Given the description of an element on the screen output the (x, y) to click on. 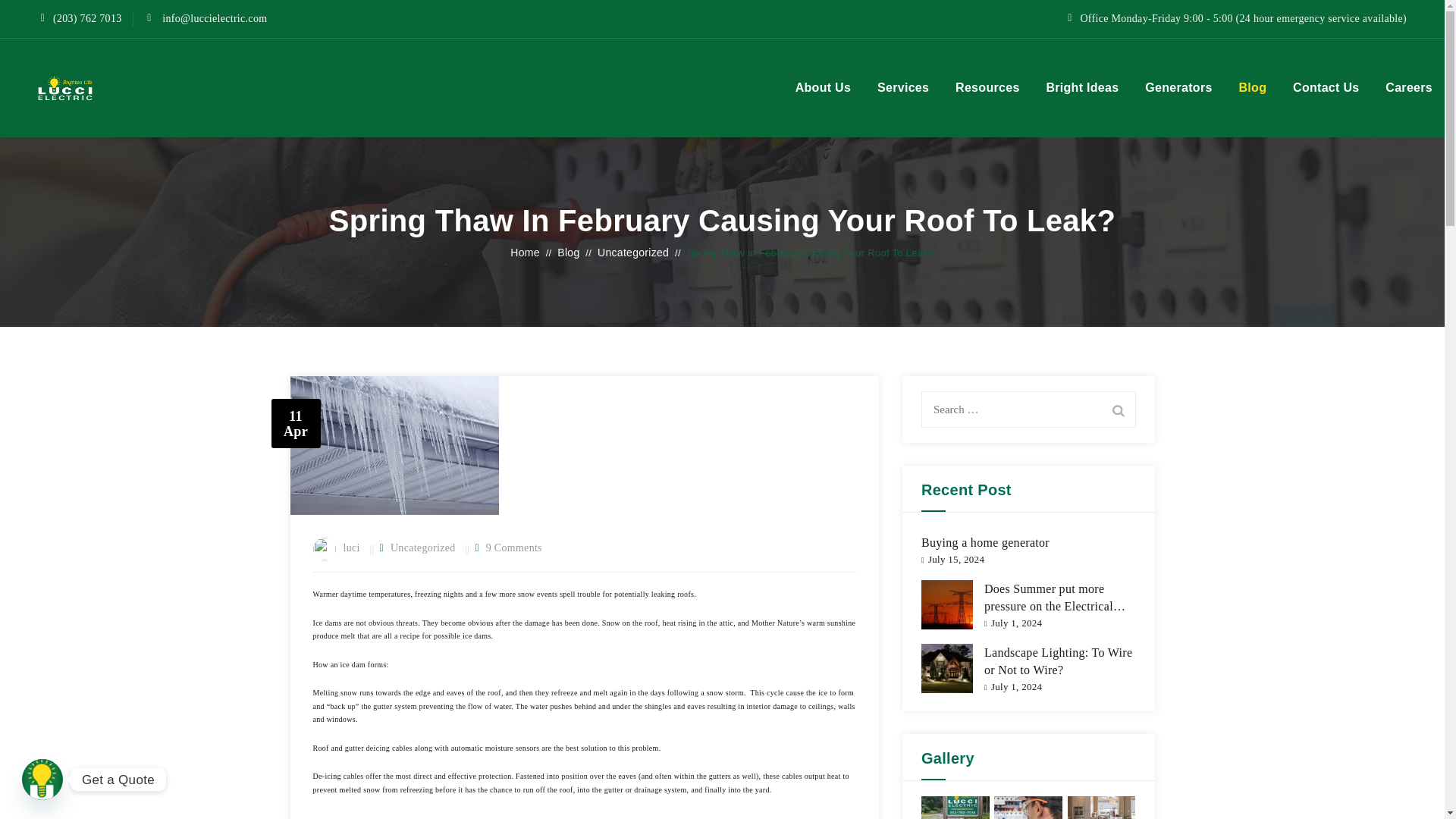
Contact Us (1326, 87)
Go to Lucci Electric. (525, 252)
Go to the Uncategorized Category archives. (632, 252)
Uncategorized (632, 252)
Search (1117, 410)
Go to Blog. (568, 252)
Resources (987, 87)
Search (1117, 410)
Blog (568, 252)
Generators (1178, 87)
Bright Ideas (1082, 87)
luci (350, 547)
Uncategorized (422, 547)
Home (525, 252)
